Given the description of an element on the screen output the (x, y) to click on. 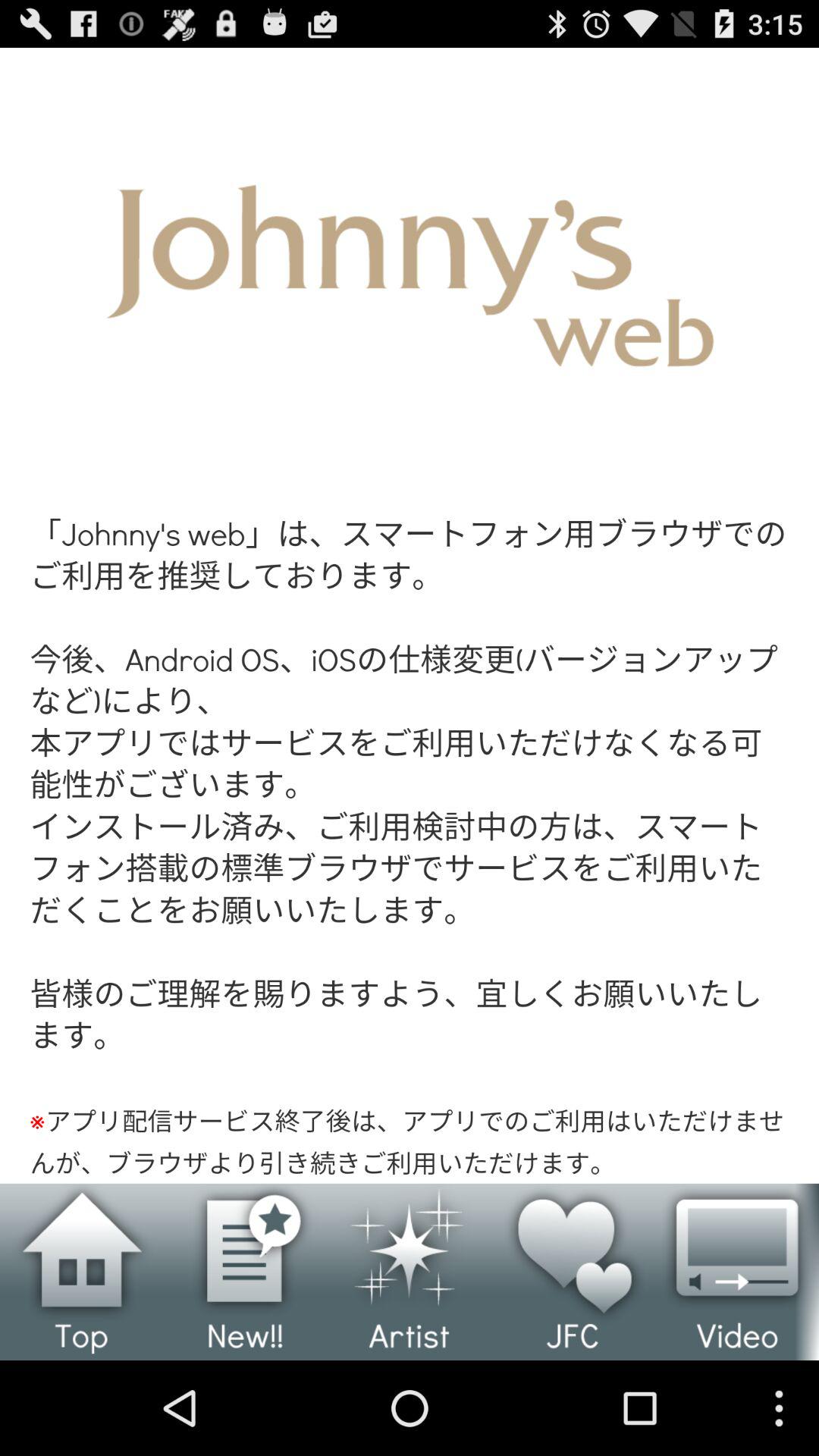
select screen botton (409, 615)
